Given the description of an element on the screen output the (x, y) to click on. 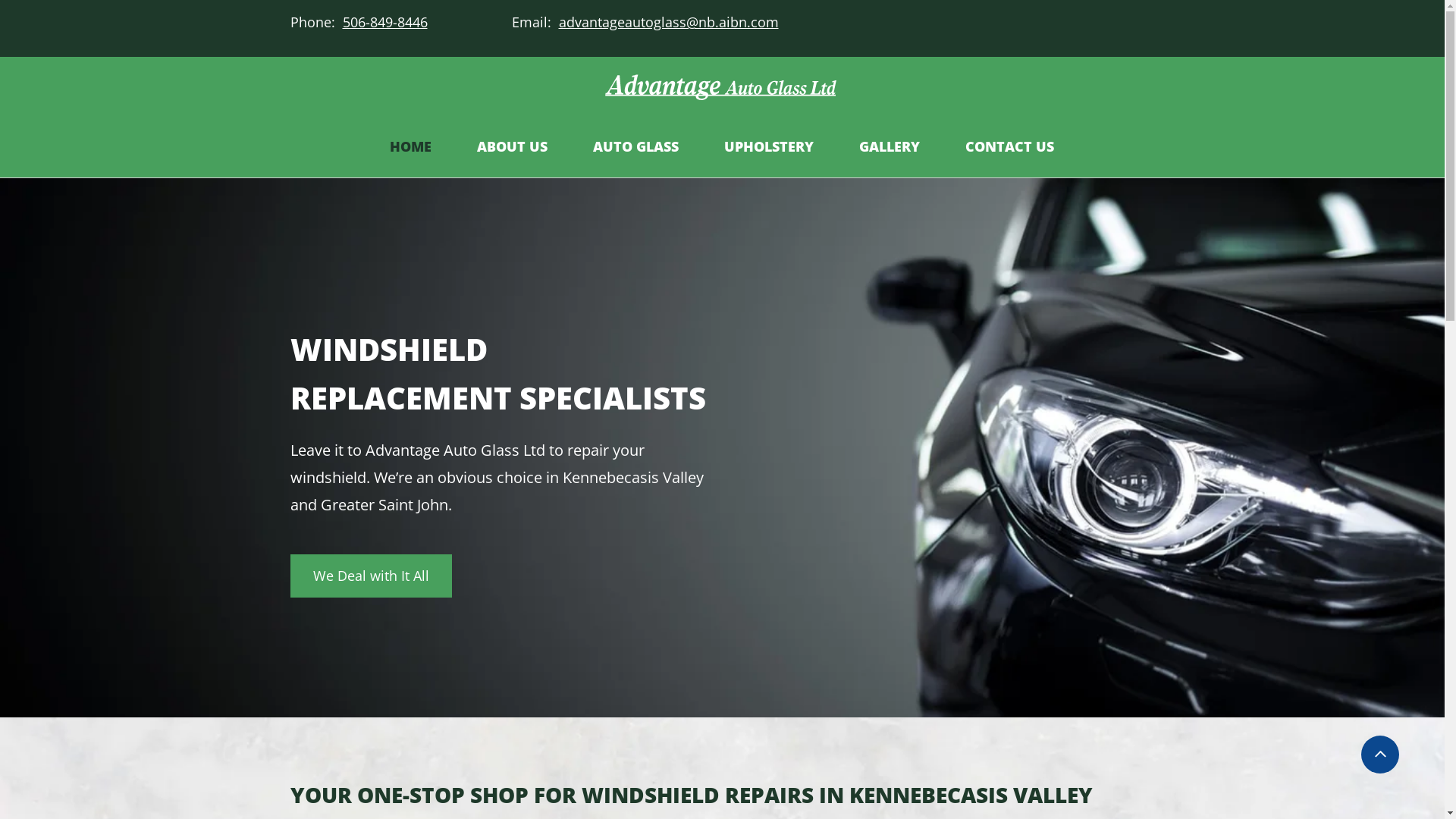
We Deal with It All Element type: text (370, 575)
UPHOLSTERY Element type: text (768, 146)
GALLERY Element type: text (889, 146)
advantageautoglass@nb.aibn.com Element type: text (668, 22)
HOME Element type: text (410, 146)
CONTACT US Element type: text (1009, 146)
AUTO GLASS Element type: text (635, 146)
ABOUT US Element type: text (511, 146)
506-849-8446 Element type: text (382, 21)
